Given the description of an element on the screen output the (x, y) to click on. 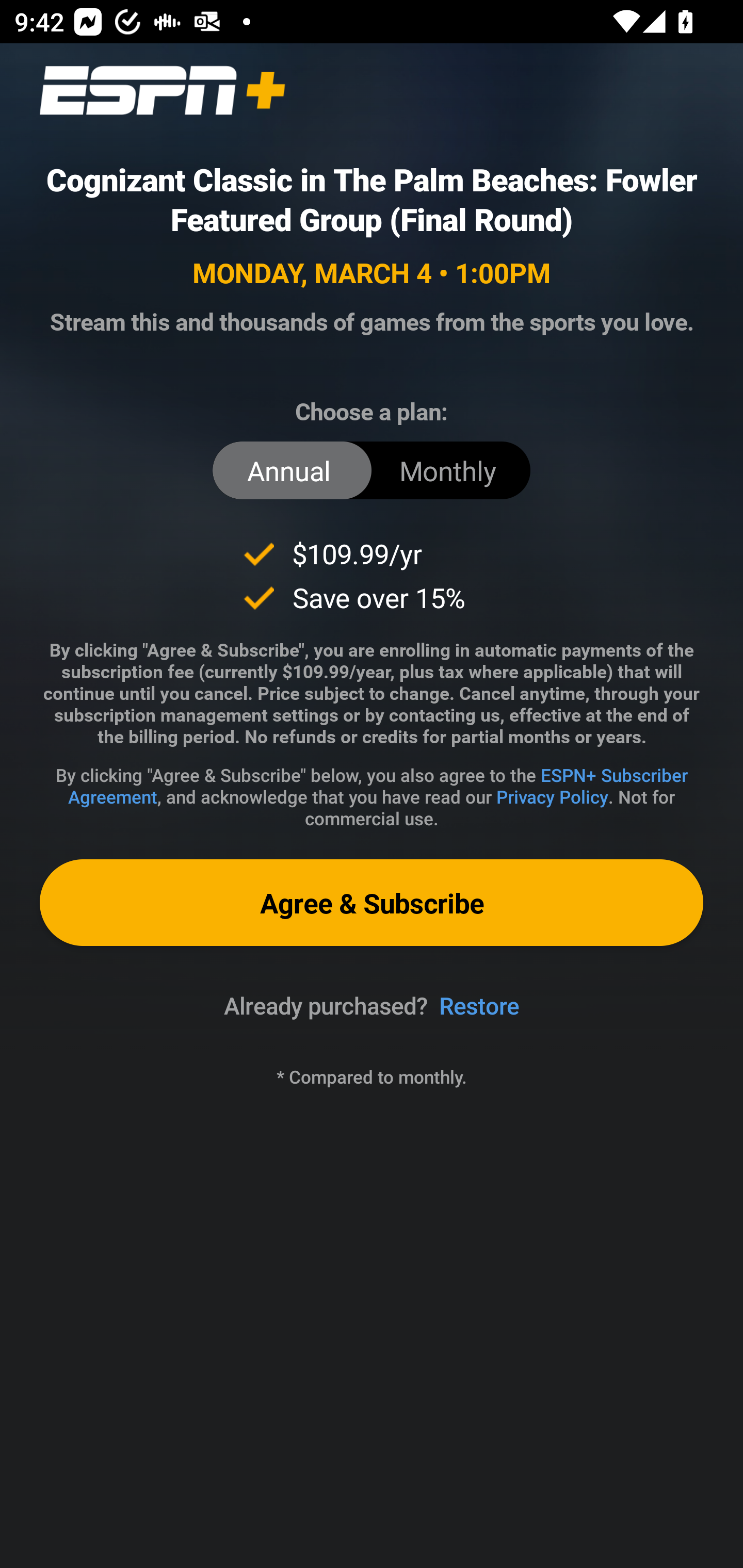
Agree & Subscribe (371, 902)
